Given the description of an element on the screen output the (x, y) to click on. 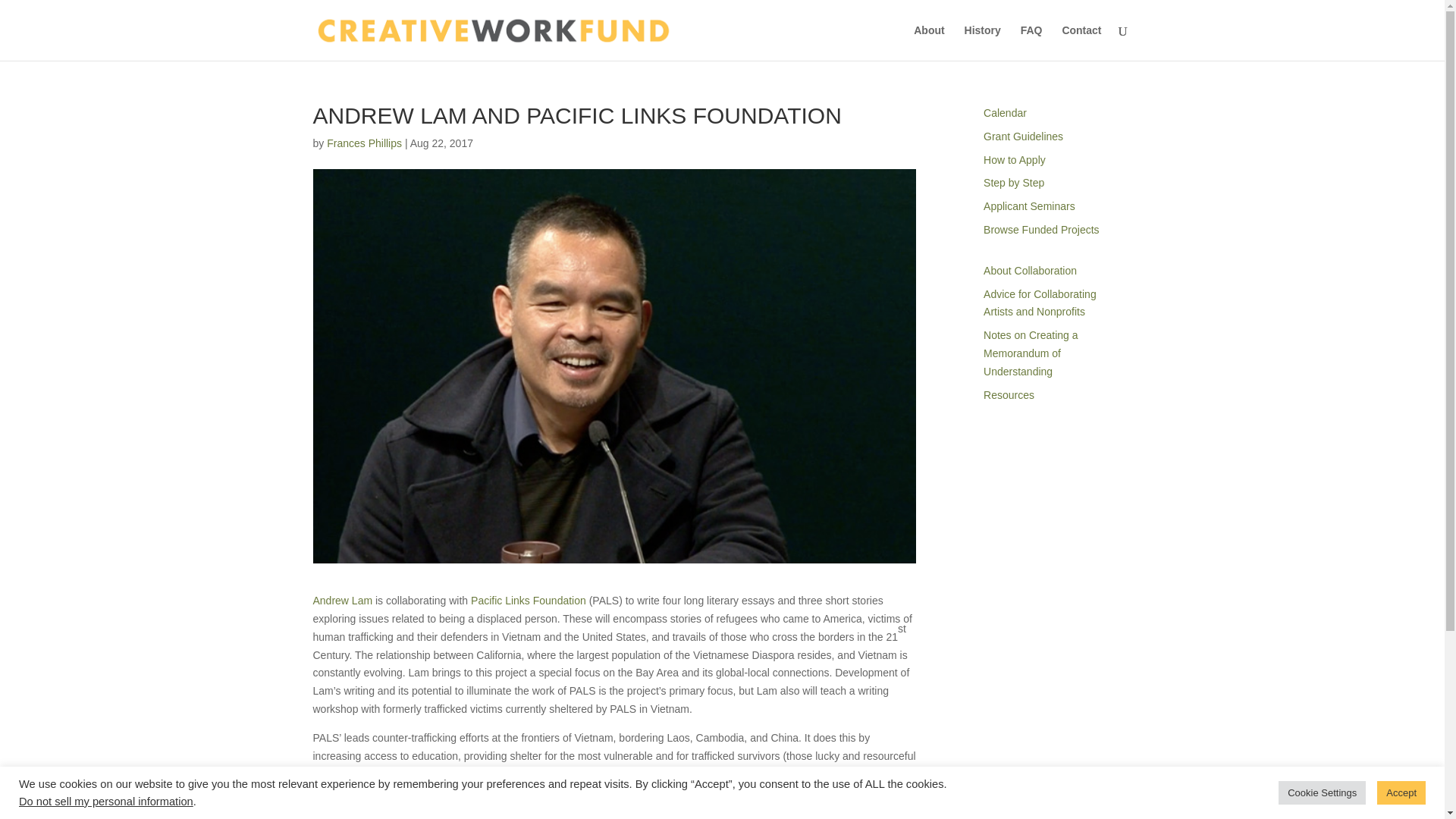
Step by Step (1040, 303)
History (1013, 182)
Browse Funded Projects (982, 42)
Calendar (1041, 229)
How to Apply (1005, 112)
Posts by Frances Phillips (1014, 159)
Andrew Lam (363, 143)
Contact (342, 600)
Grant Guidelines (1080, 42)
Do not sell my personal information (1023, 136)
Frances Phillips (105, 801)
Applicant Seminars (363, 143)
Accept (1029, 205)
Pacific Links Foundation (1401, 792)
